Given the description of an element on the screen output the (x, y) to click on. 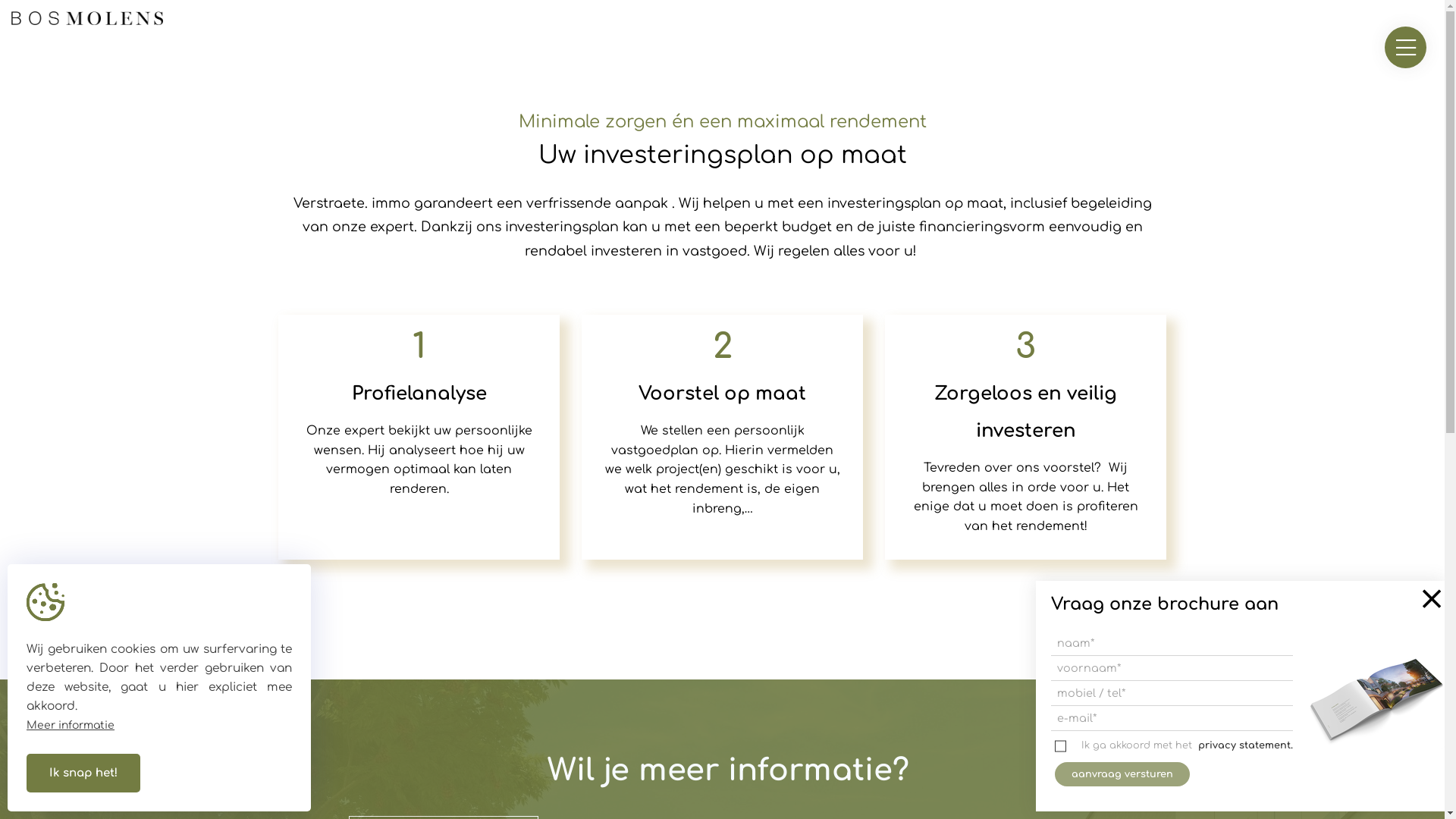
privacy statement. Element type: text (1245, 745)
Ik snap het! Element type: text (83, 772)
aanvraag versturen Element type: text (1121, 774)
Meer informatie Element type: text (70, 725)
